Given the description of an element on the screen output the (x, y) to click on. 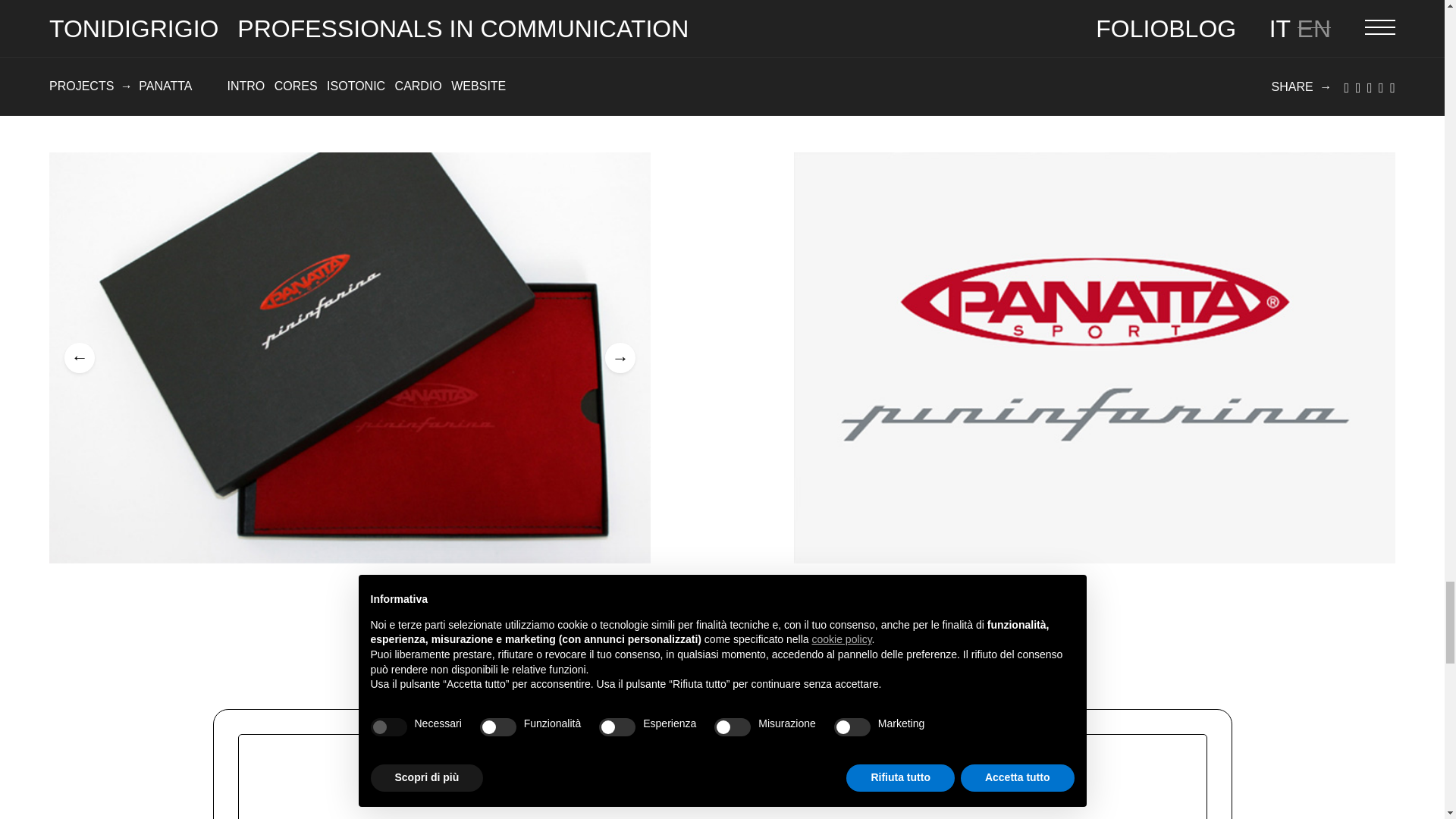
Next (619, 358)
Previous (79, 358)
